Given the description of an element on the screen output the (x, y) to click on. 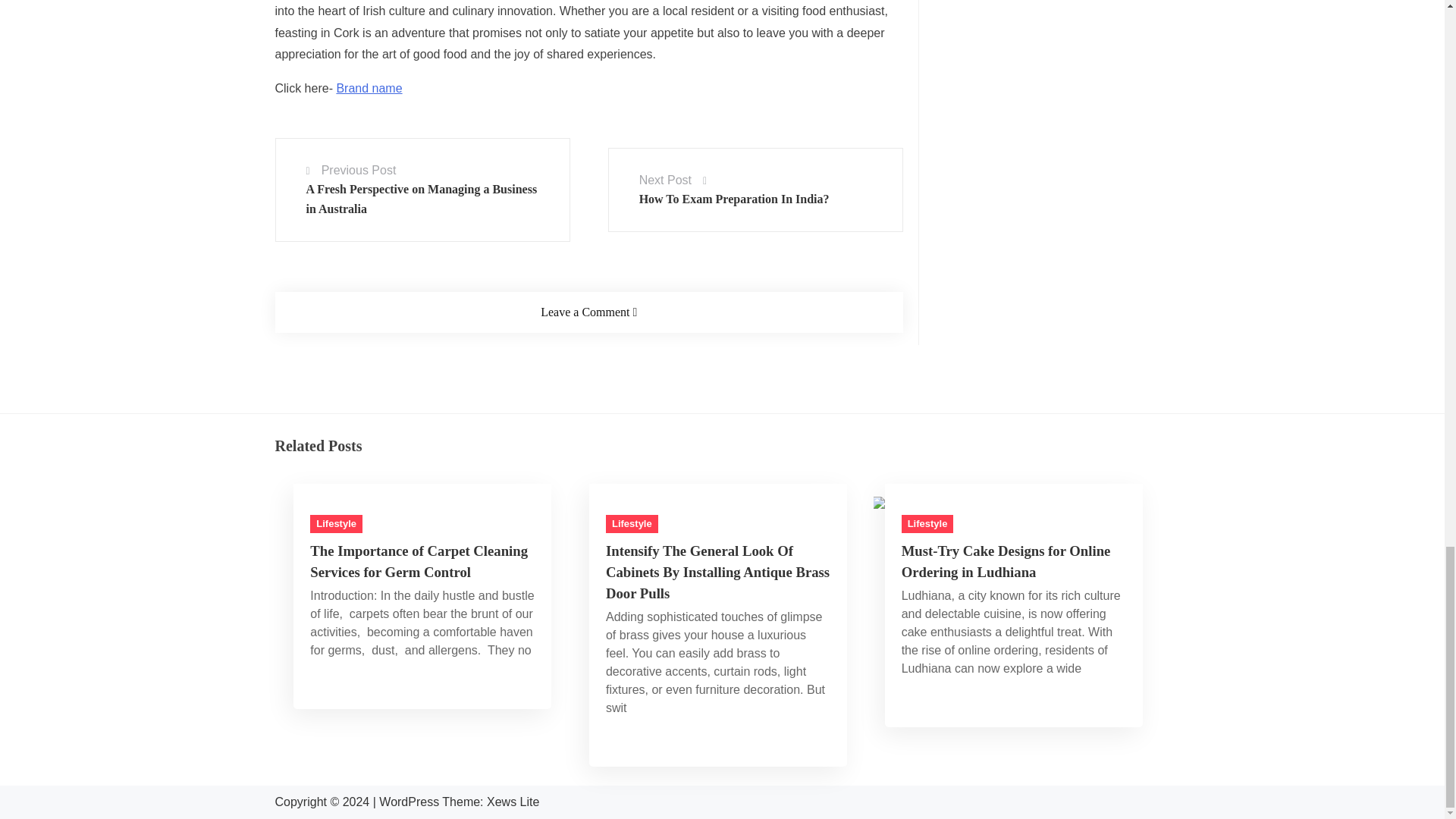
How To Exam Preparation In India? (734, 11)
A Fresh Perspective on Managing a Business in Australia (421, 13)
Must-Try Cake Designs for Online Ordering in Ludhiana (1012, 421)
